Given the description of an element on the screen output the (x, y) to click on. 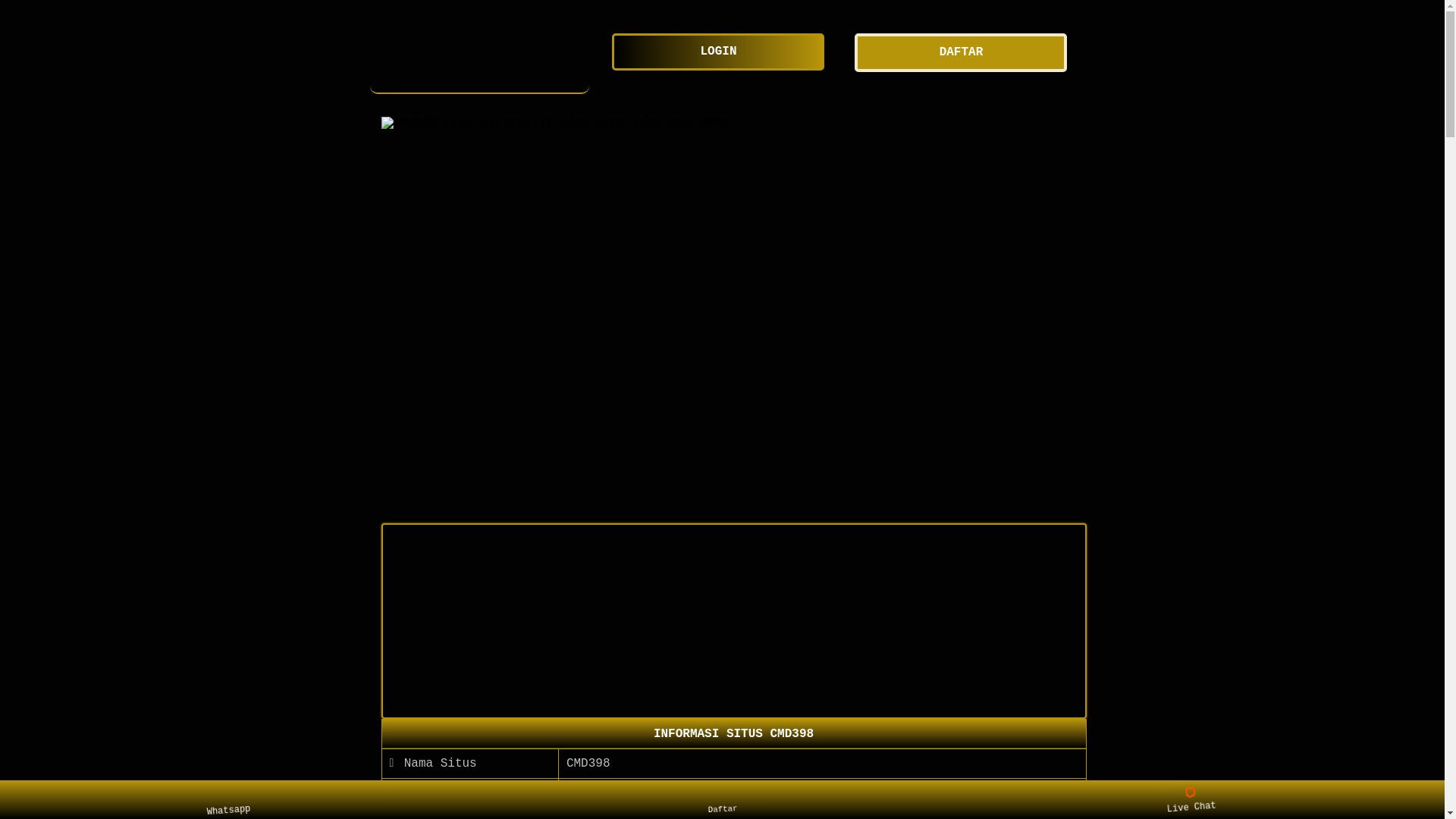
CMD398 Link Alternatif Slot Depo 2000 OVO 2023 Element type: hover (479, 58)
Whatsapp Element type: text (237, 799)
Previous item in carousel (1 of 1) Element type: hover (392, 315)
LOGIN Element type: text (721, 51)
Next item in carousel (1 of 1) Element type: hover (1073, 315)
Live Chat Element type: text (1200, 799)
DAFTAR Element type: text (964, 52)
Daftar Element type: text (718, 797)
